Given the description of an element on the screen output the (x, y) to click on. 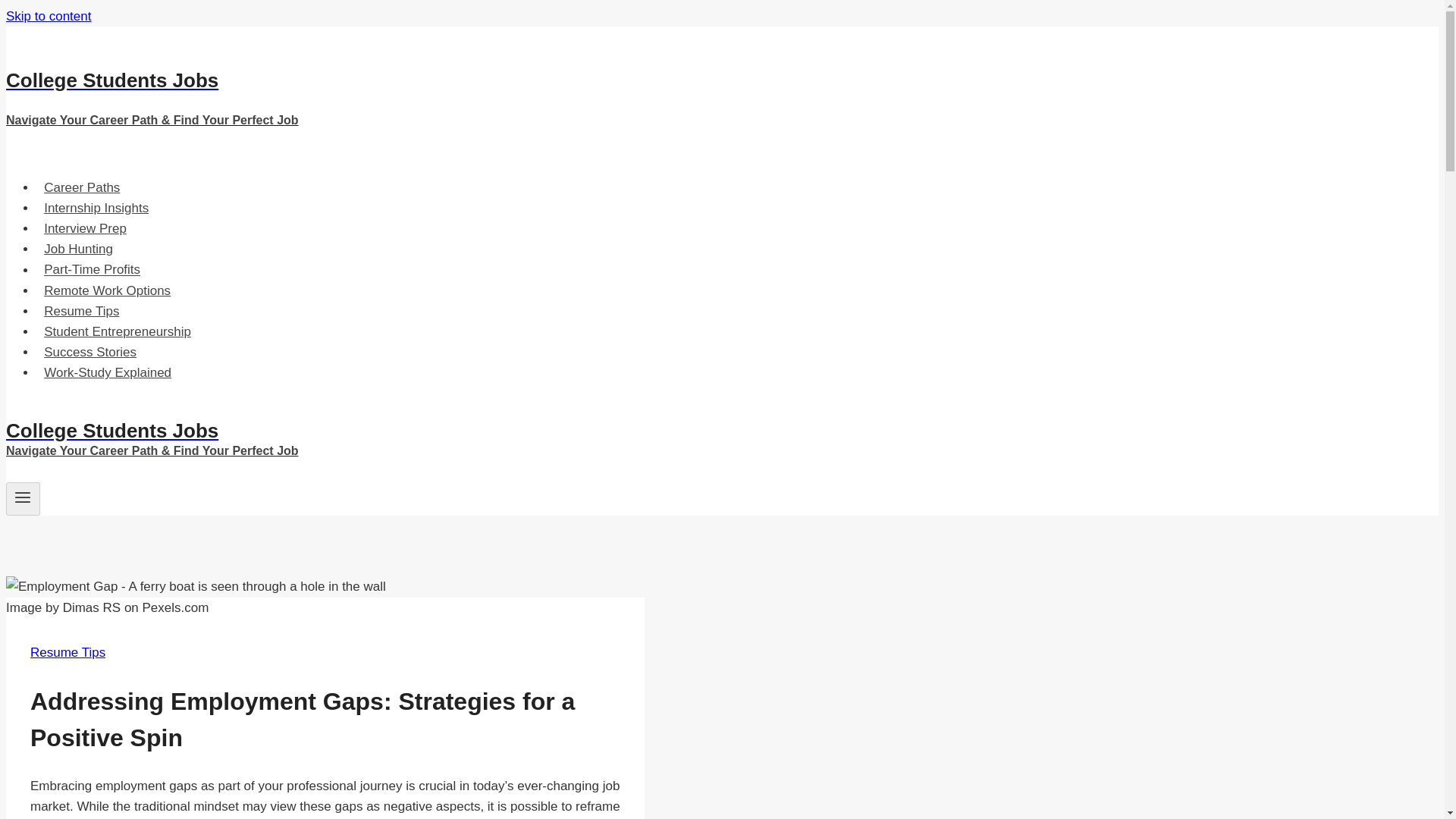
Student Entrepreneurship (117, 331)
Work-Study Explained (107, 372)
Interview Prep (84, 228)
Resume Tips (67, 652)
Toggle Menu (22, 497)
Success Stories (90, 351)
Part-Time Profits (92, 269)
Remote Work Options (106, 290)
Resume Tips (82, 310)
Career Paths (82, 187)
Internship Insights (95, 207)
Skip to content (47, 16)
Skip to content (47, 16)
Toggle Menu (22, 498)
Job Hunting (78, 248)
